Given the description of an element on the screen output the (x, y) to click on. 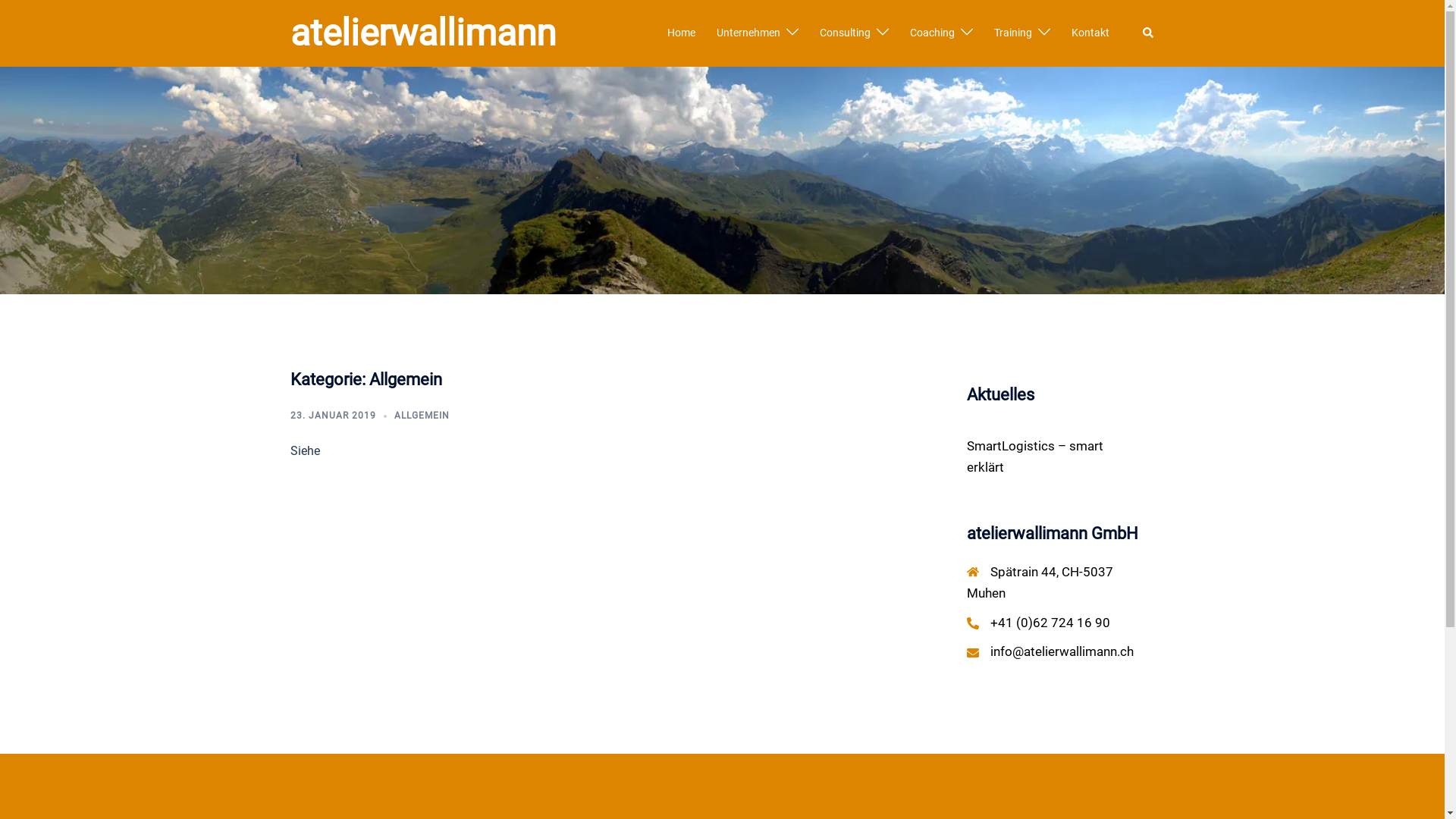
23. JANUAR 2019 Element type: text (332, 415)
Search Element type: text (1148, 33)
Kontakt Element type: text (1089, 33)
info@atelierwallimann.ch Element type: text (1061, 650)
atelierwallimann Element type: text (422, 32)
Unternehmen Element type: text (747, 33)
Home Element type: text (681, 33)
Training Element type: text (1012, 33)
ALLGEMEIN Element type: text (421, 415)
Coaching Element type: text (932, 33)
Consulting Element type: text (844, 33)
